Given the description of an element on the screen output the (x, y) to click on. 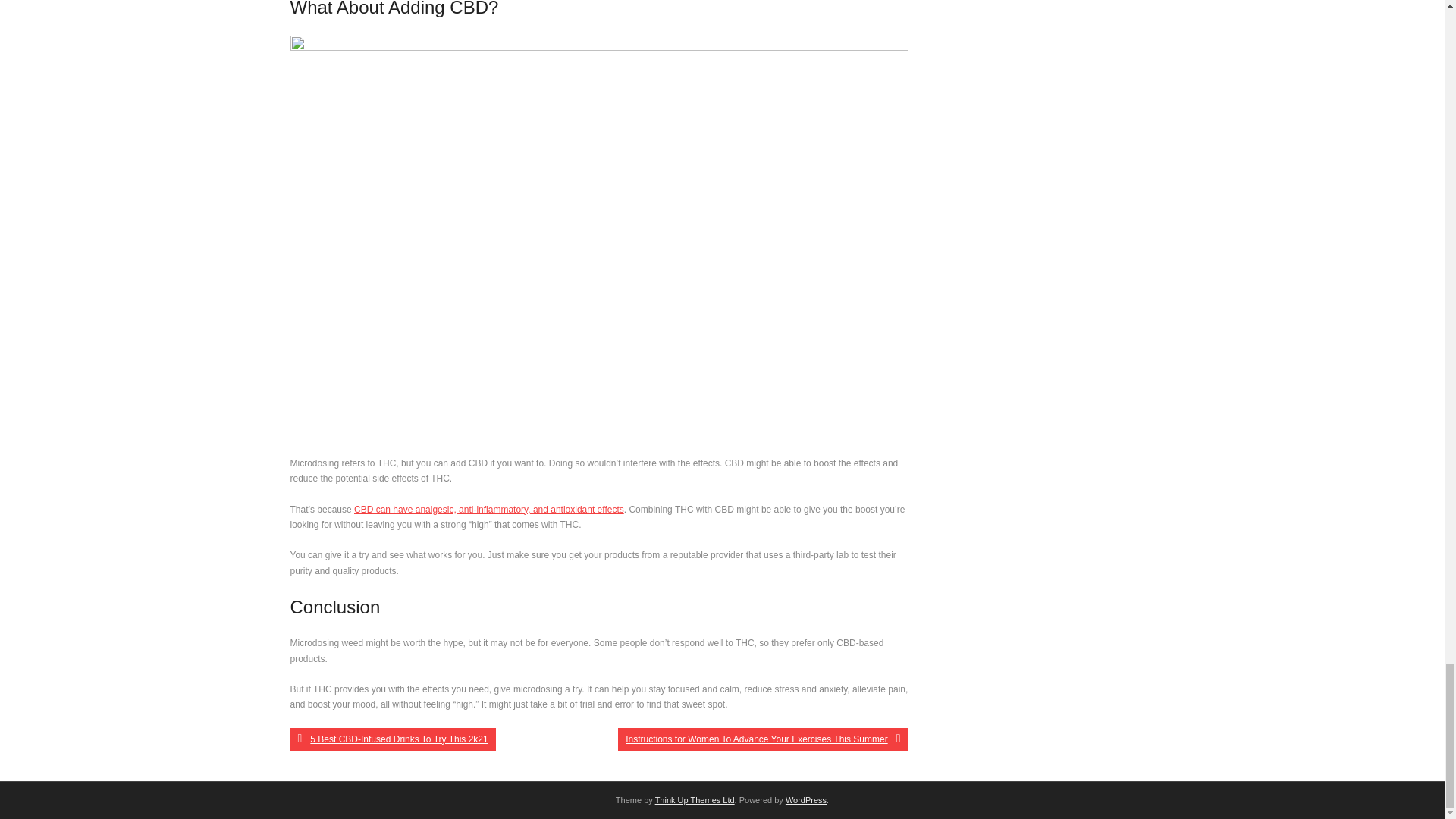
5 Best CBD-Infused Drinks To Try This 2k21 (392, 739)
Instructions for Women To Advance Your Exercises This Summer (762, 739)
